Given the description of an element on the screen output the (x, y) to click on. 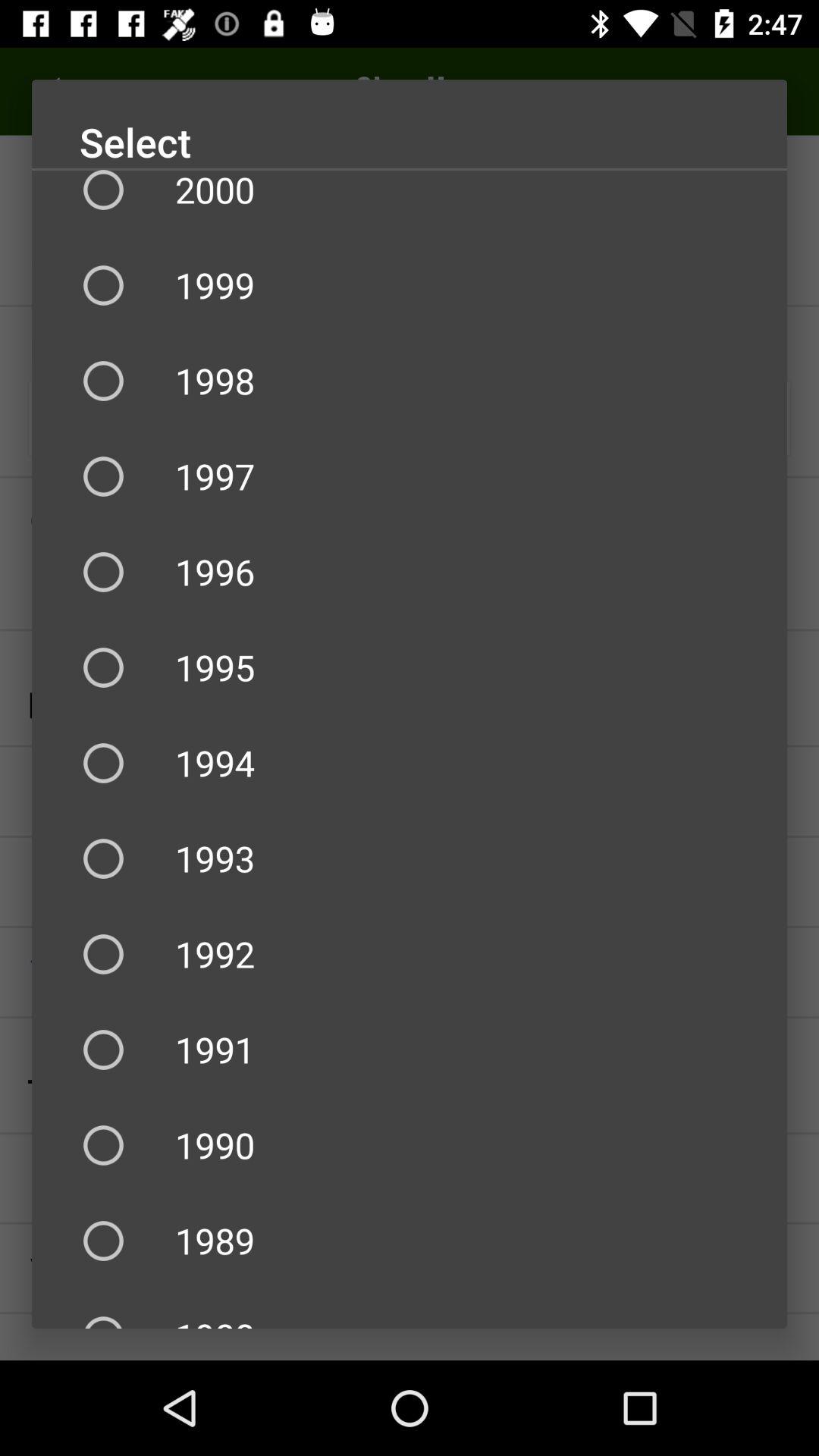
turn on 1992 item (409, 954)
